Given the description of an element on the screen output the (x, y) to click on. 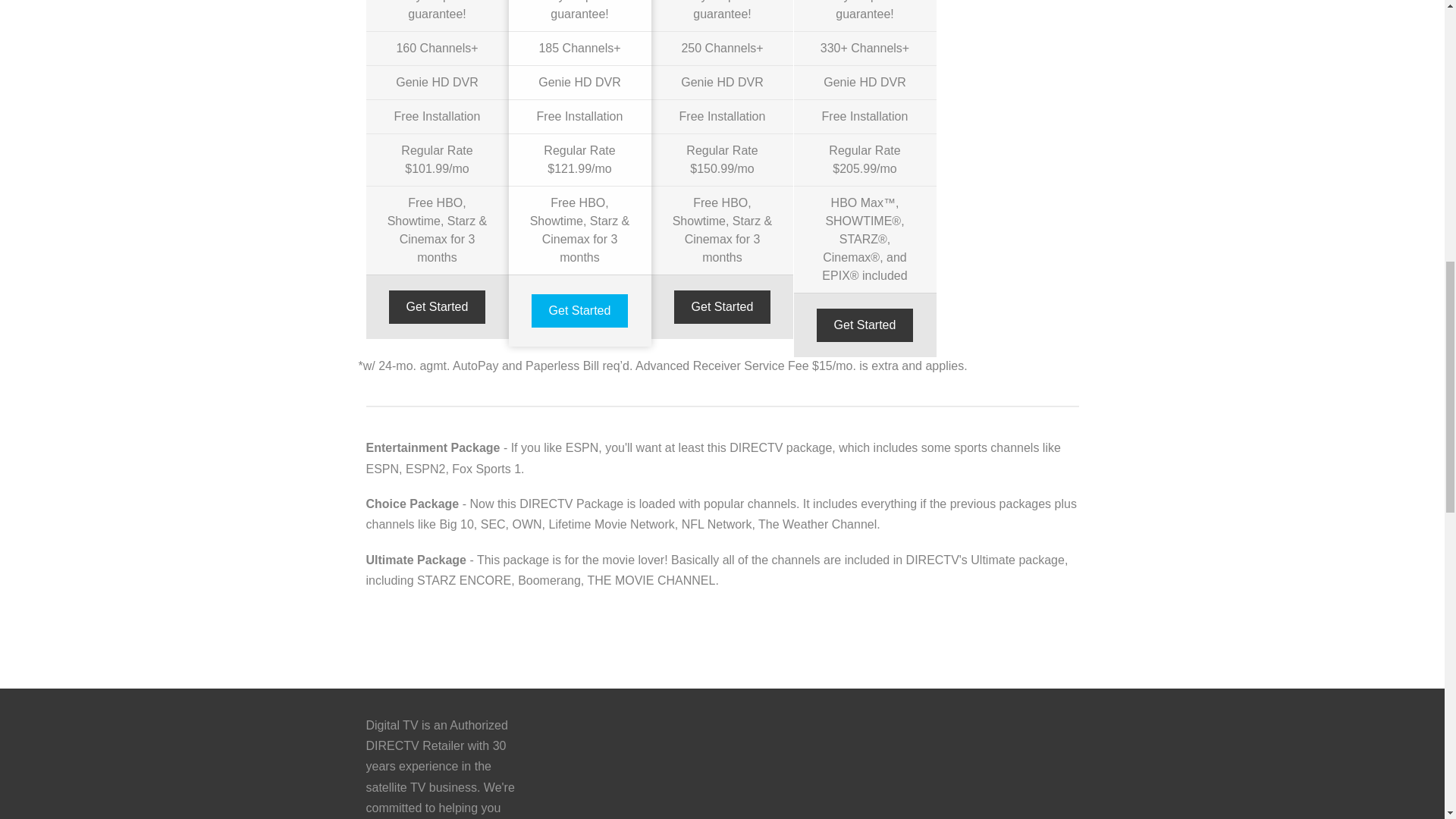
Get Started (722, 306)
Get Started (437, 306)
Get Started (865, 325)
Get Started (579, 310)
